Given the description of an element on the screen output the (x, y) to click on. 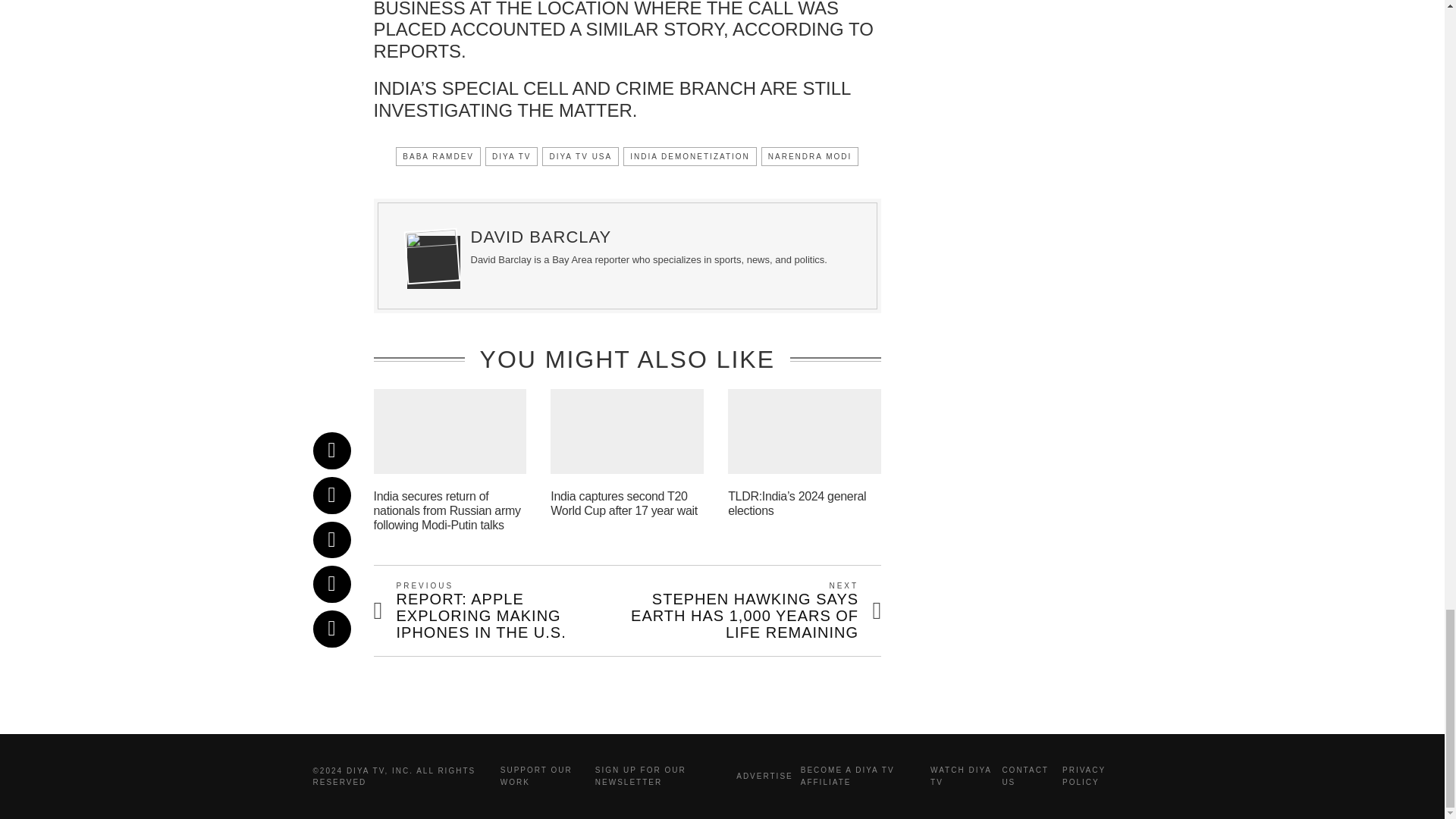
DAVID BARCLAY (540, 236)
DIYA TV (510, 156)
DIYA TV USA (579, 156)
BABA RAMDEV (438, 156)
NARENDRA MODI (810, 156)
India captures second T20 World Cup after 17 year wait (623, 502)
INDIA DEMONETIZATION (690, 156)
